Given the description of an element on the screen output the (x, y) to click on. 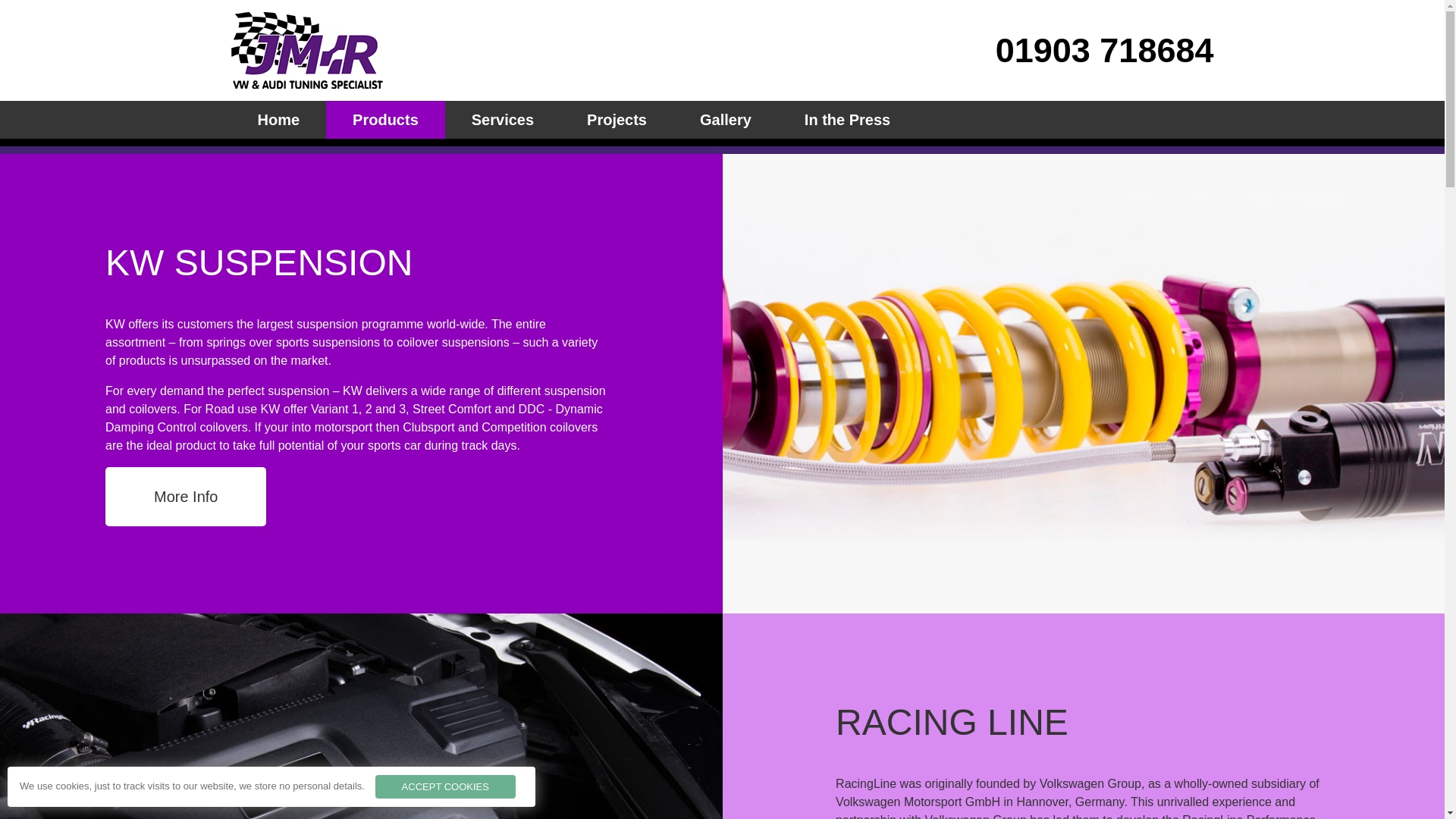
Services (502, 119)
In the Press (847, 119)
Projects (616, 119)
Home (278, 119)
John Mitchell Racing - Gallery (724, 119)
John Mitchell Racing - In the press (847, 119)
ACCEPT COOKIES (445, 786)
John Mitchell Racing (278, 119)
John Mitchell Racing - Products (385, 119)
Products (385, 119)
Gallery (724, 119)
